Given the description of an element on the screen output the (x, y) to click on. 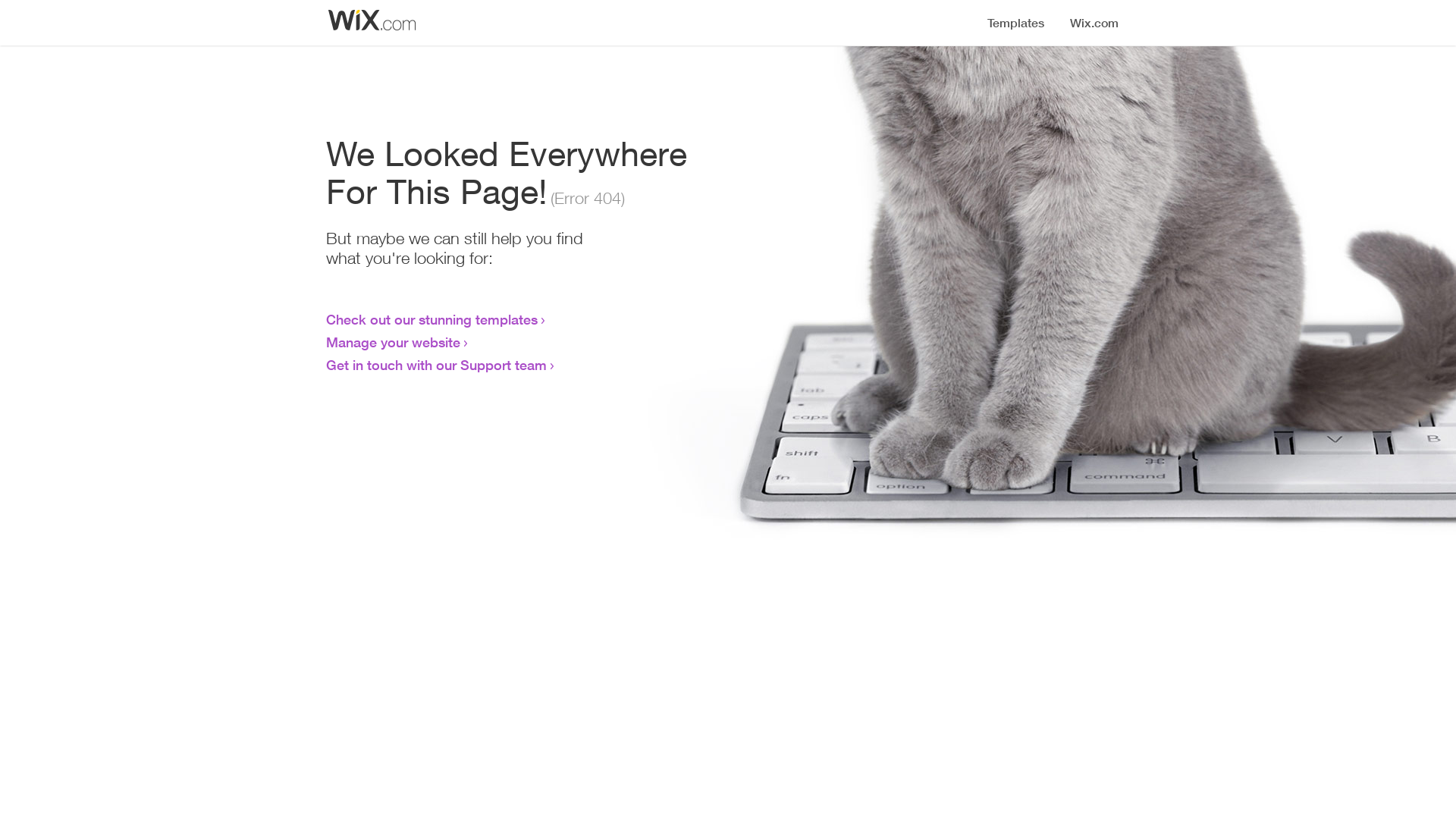
Manage your website Element type: text (393, 341)
Check out our stunning templates Element type: text (431, 318)
Get in touch with our Support team Element type: text (436, 364)
